Given the description of an element on the screen output the (x, y) to click on. 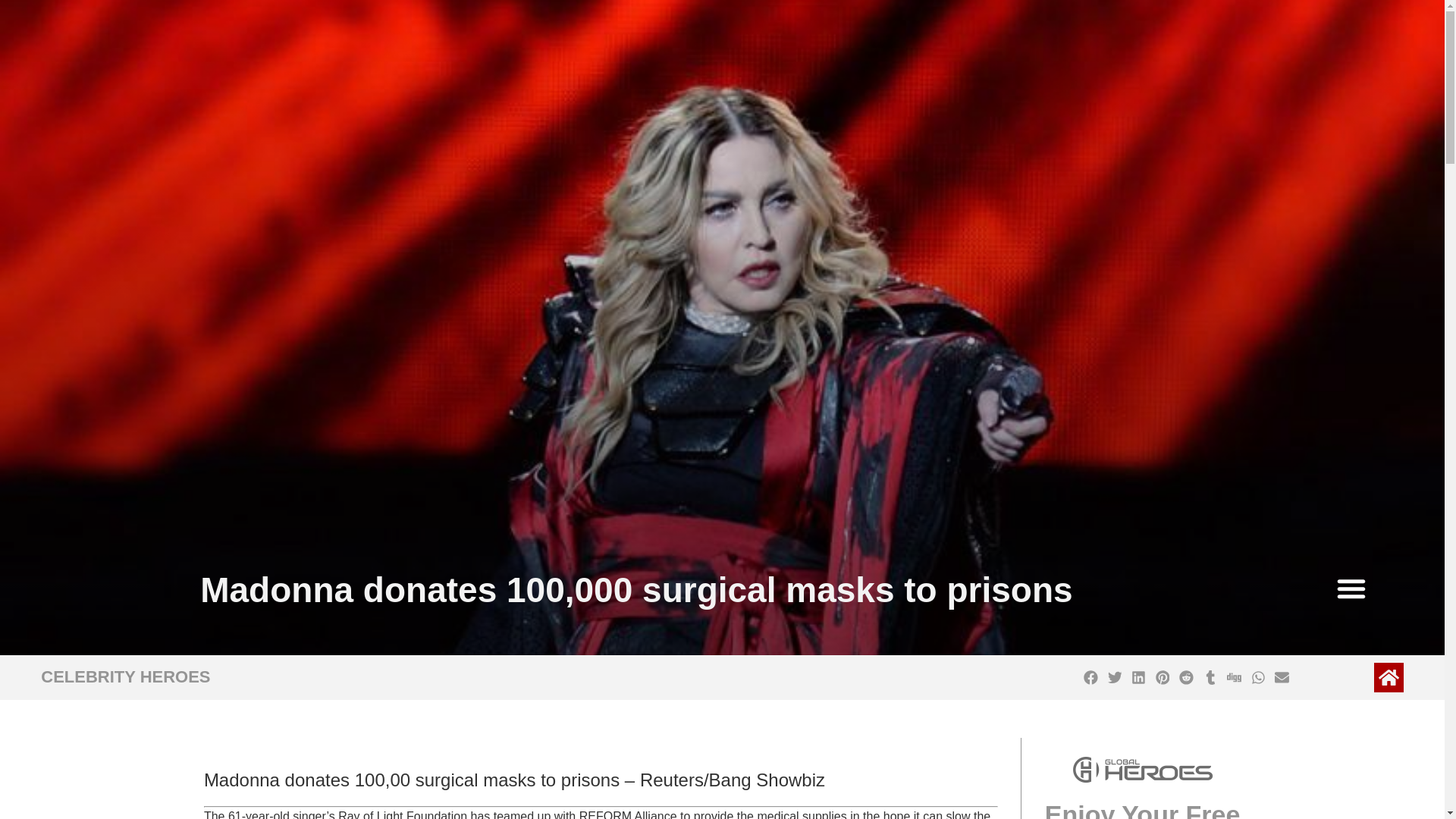
Global Heroes Logo Grey (1142, 769)
Enjoy Your Free Copy (1142, 809)
CELEBRITY HEROES (124, 676)
